Given the description of an element on the screen output the (x, y) to click on. 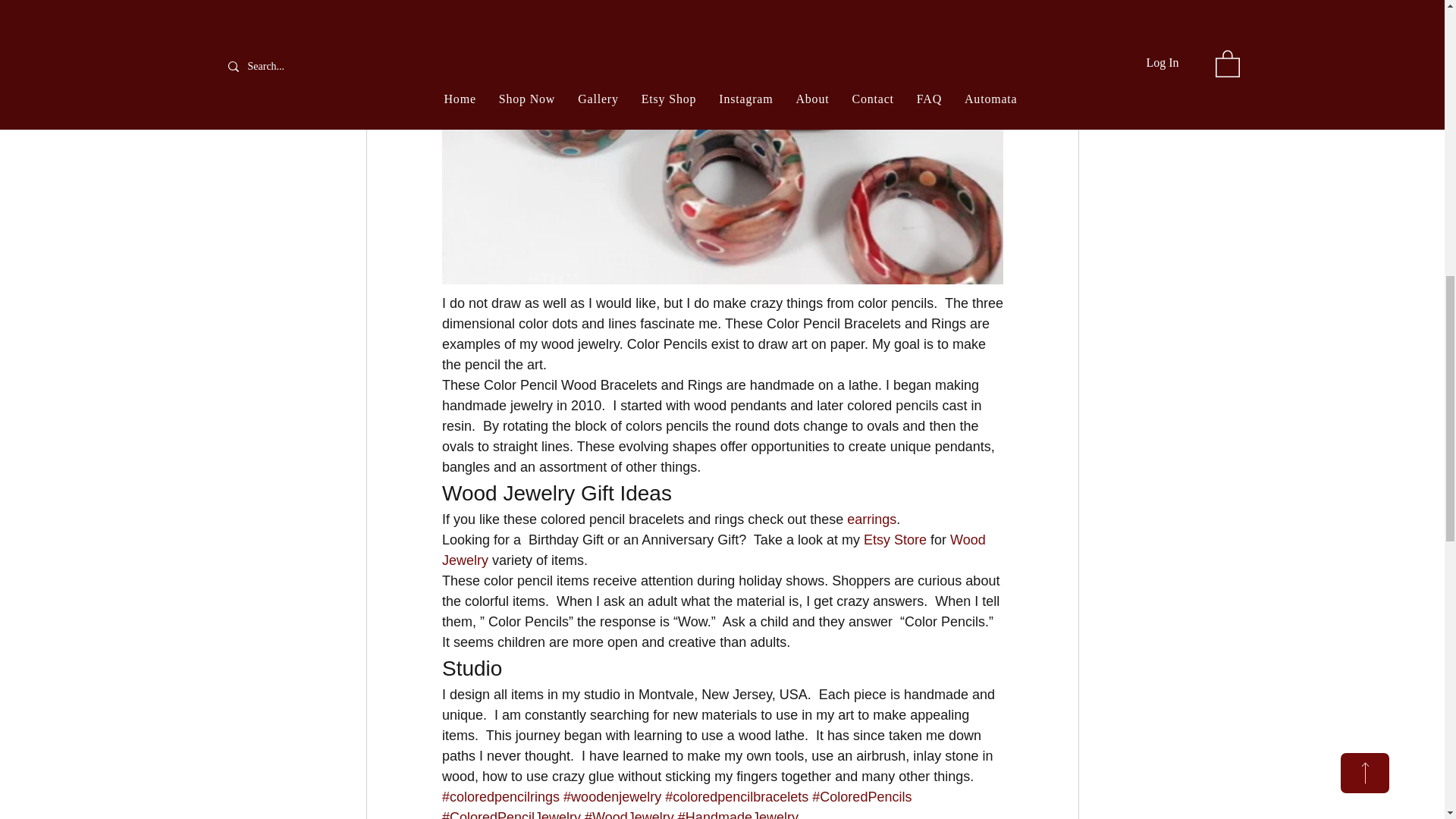
earrings (871, 519)
Etsy Store (894, 539)
. (585, 560)
Wood Jewelry (714, 550)
